Given the description of an element on the screen output the (x, y) to click on. 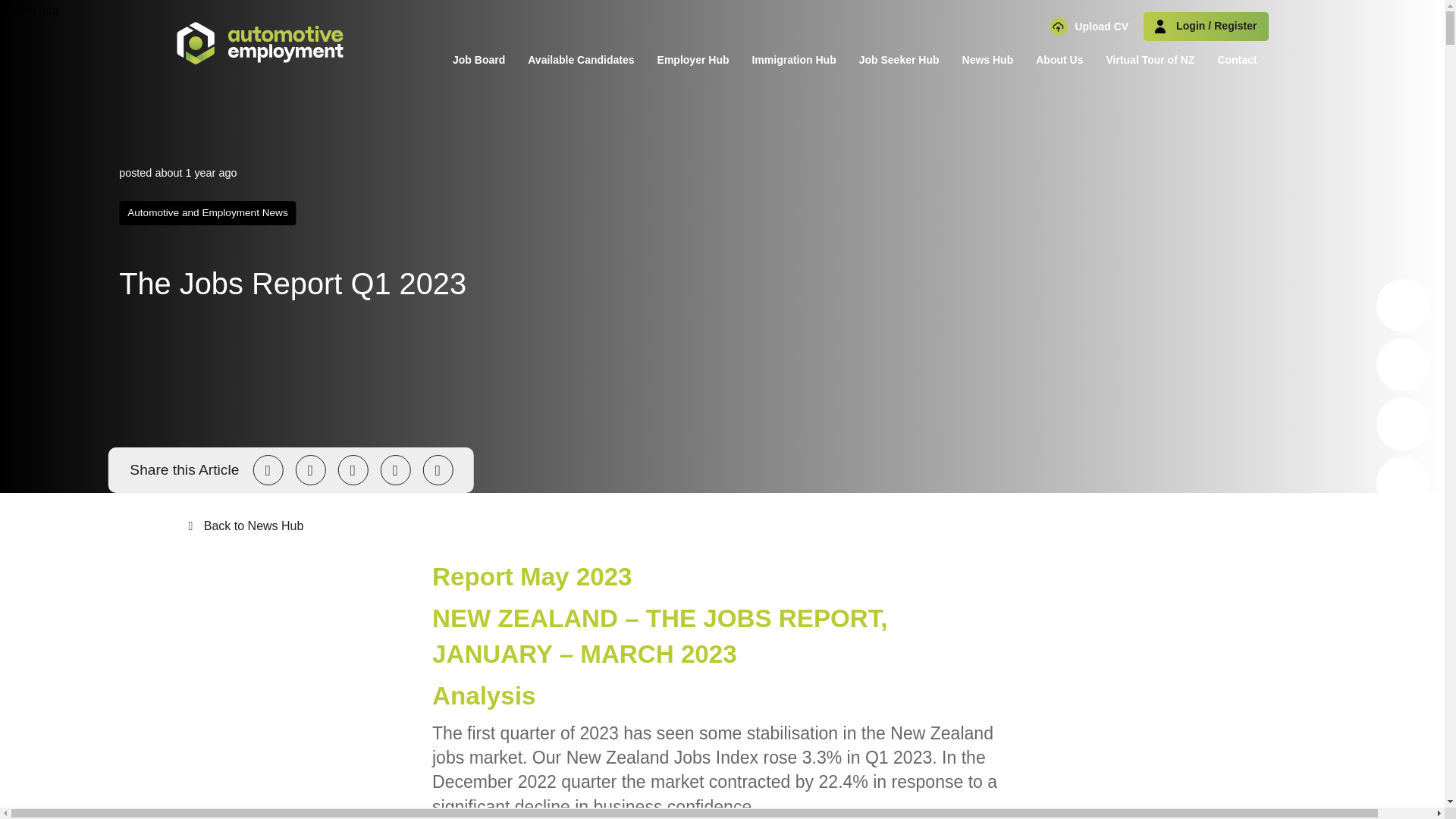
Send in Whatsapp (437, 470)
Upload CV (1088, 26)
Tweet this (266, 470)
Share on Facebook (309, 470)
Email (395, 470)
Share on LinkedIn (352, 470)
Go to the Homepage (259, 43)
